Given the description of an element on the screen output the (x, y) to click on. 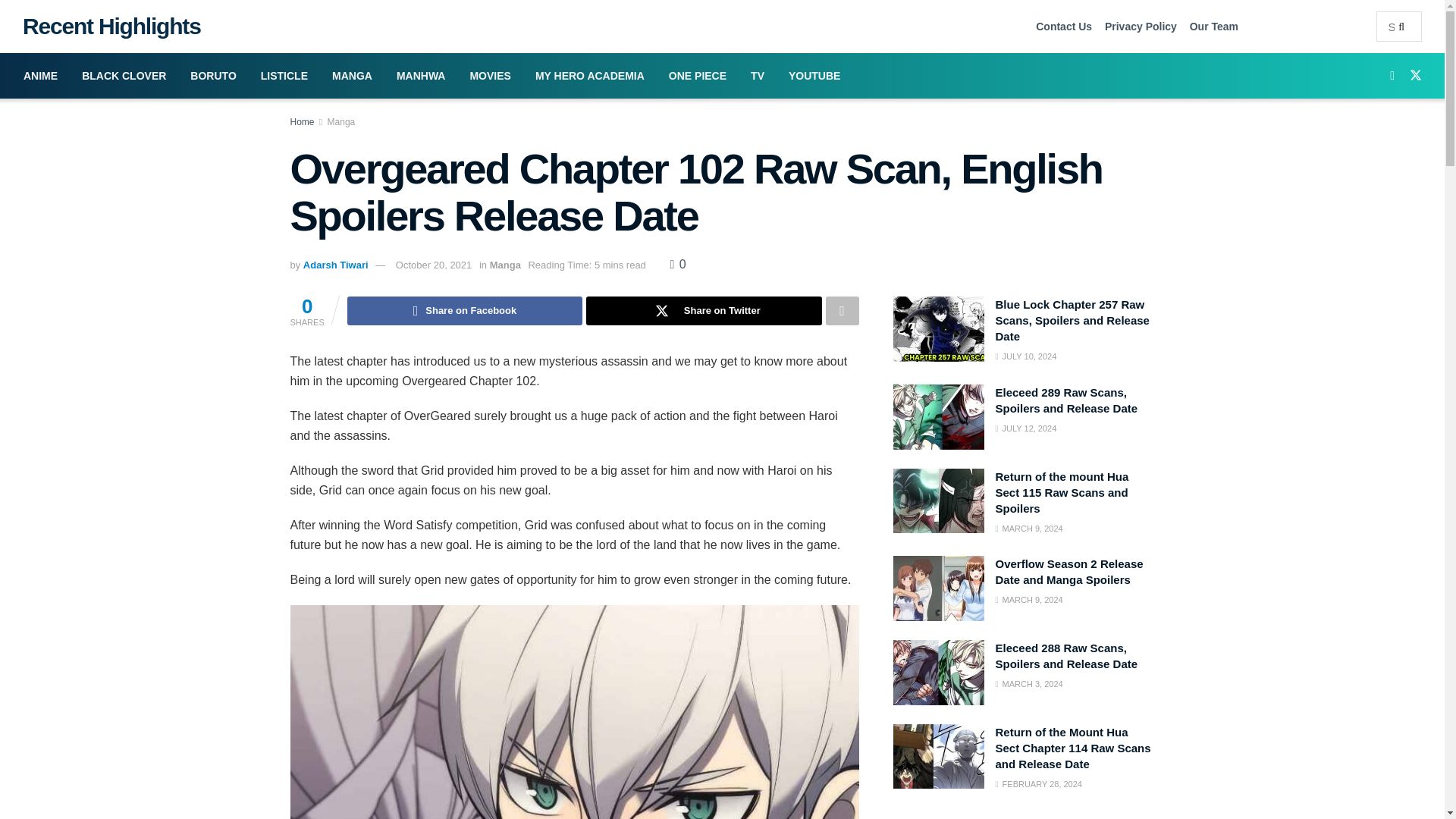
ANIME (40, 75)
MANGA (352, 75)
BLACK CLOVER (123, 75)
Our Team (1214, 26)
ONE PIECE (697, 75)
MANHWA (421, 75)
Adarsh Tiwari (335, 265)
Home (301, 122)
MOVIES (489, 75)
Contact Us (1063, 26)
YOUTUBE (813, 75)
MY HERO ACADEMIA (589, 75)
Manga (341, 122)
October 20, 2021 (433, 265)
Recent Highlights (105, 26)
